Given the description of an element on the screen output the (x, y) to click on. 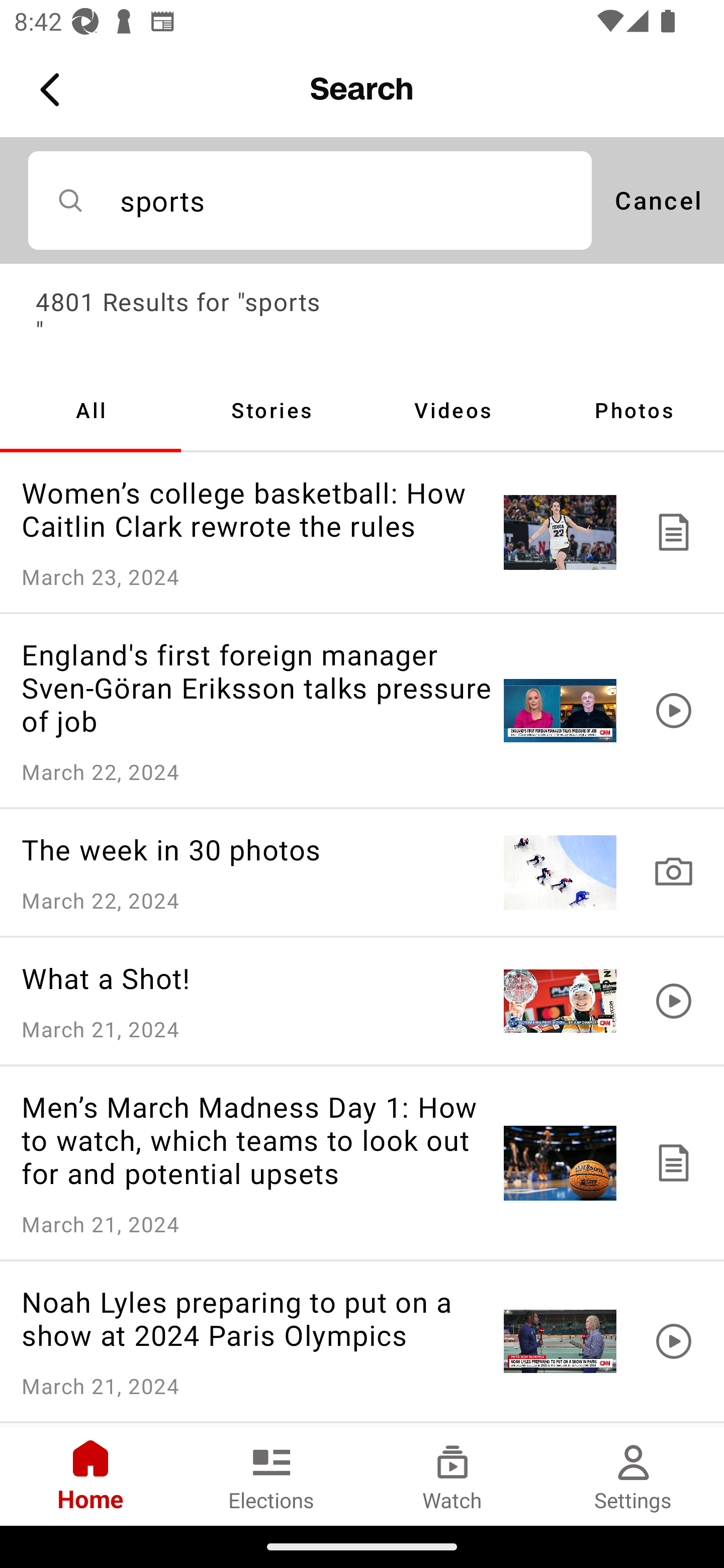
Back Button (52, 89)
Cancel (657, 199)
sports
 (309, 199)
Stories (271, 409)
Videos (452, 409)
Photos (633, 409)
The week in 30 photos March 22, 2024 Content Type (361, 871)
What a Shot! March 21, 2024 Content Type (361, 1000)
Elections (271, 1475)
Watch (452, 1475)
Settings (633, 1475)
